Given the description of an element on the screen output the (x, y) to click on. 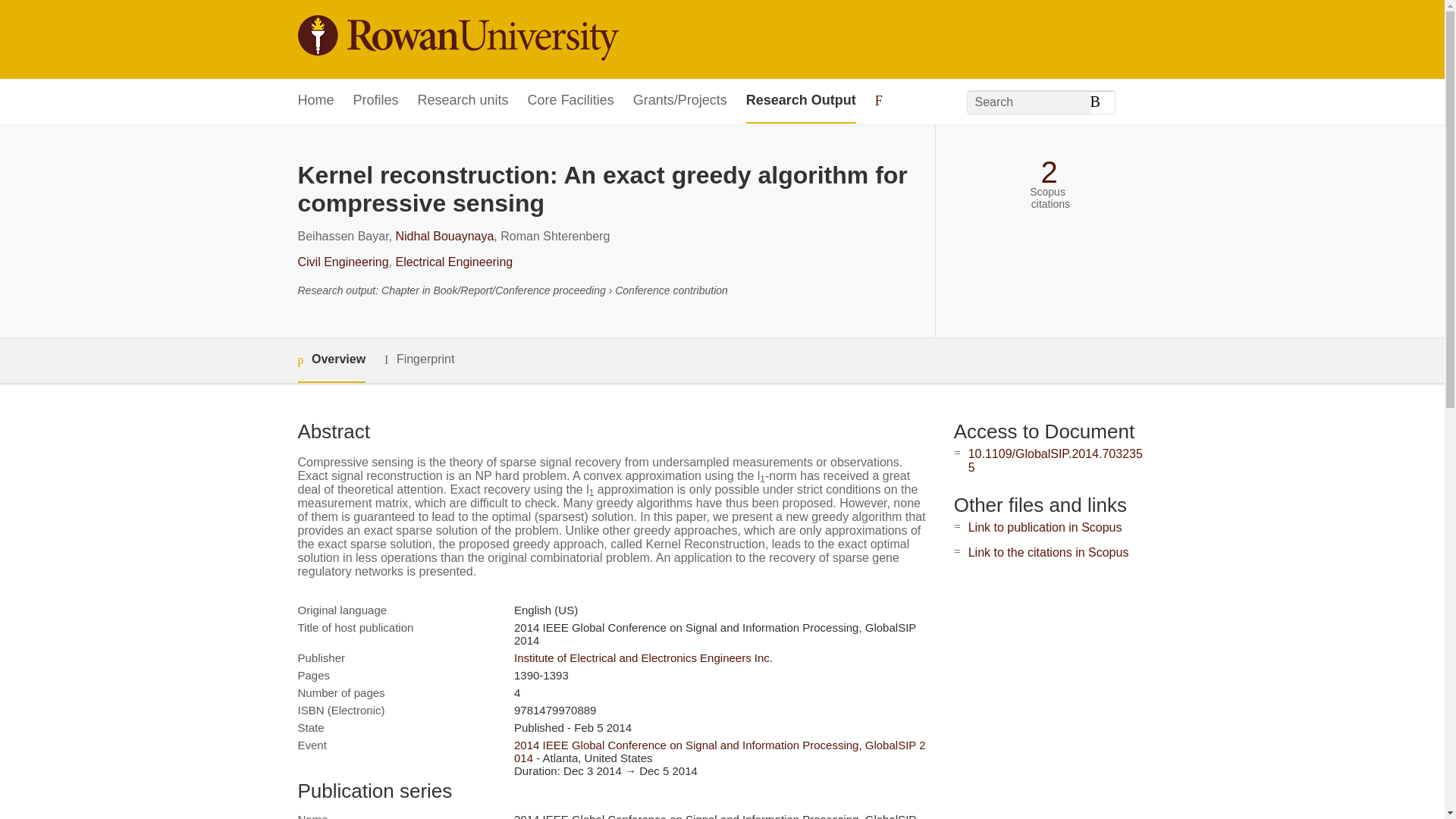
Rowan University Home (457, 39)
Link to the citations in Scopus (1048, 552)
Overview (331, 360)
Research Output (800, 100)
Institute of Electrical and Electronics Engineers Inc. (643, 657)
Core Facilities (570, 100)
Research units (462, 100)
Profiles (375, 100)
Civil Engineering (342, 261)
Electrical Engineering (453, 261)
Fingerprint (419, 359)
Link to publication in Scopus (1045, 526)
Nidhal Bouaynaya (443, 236)
